Given the description of an element on the screen output the (x, y) to click on. 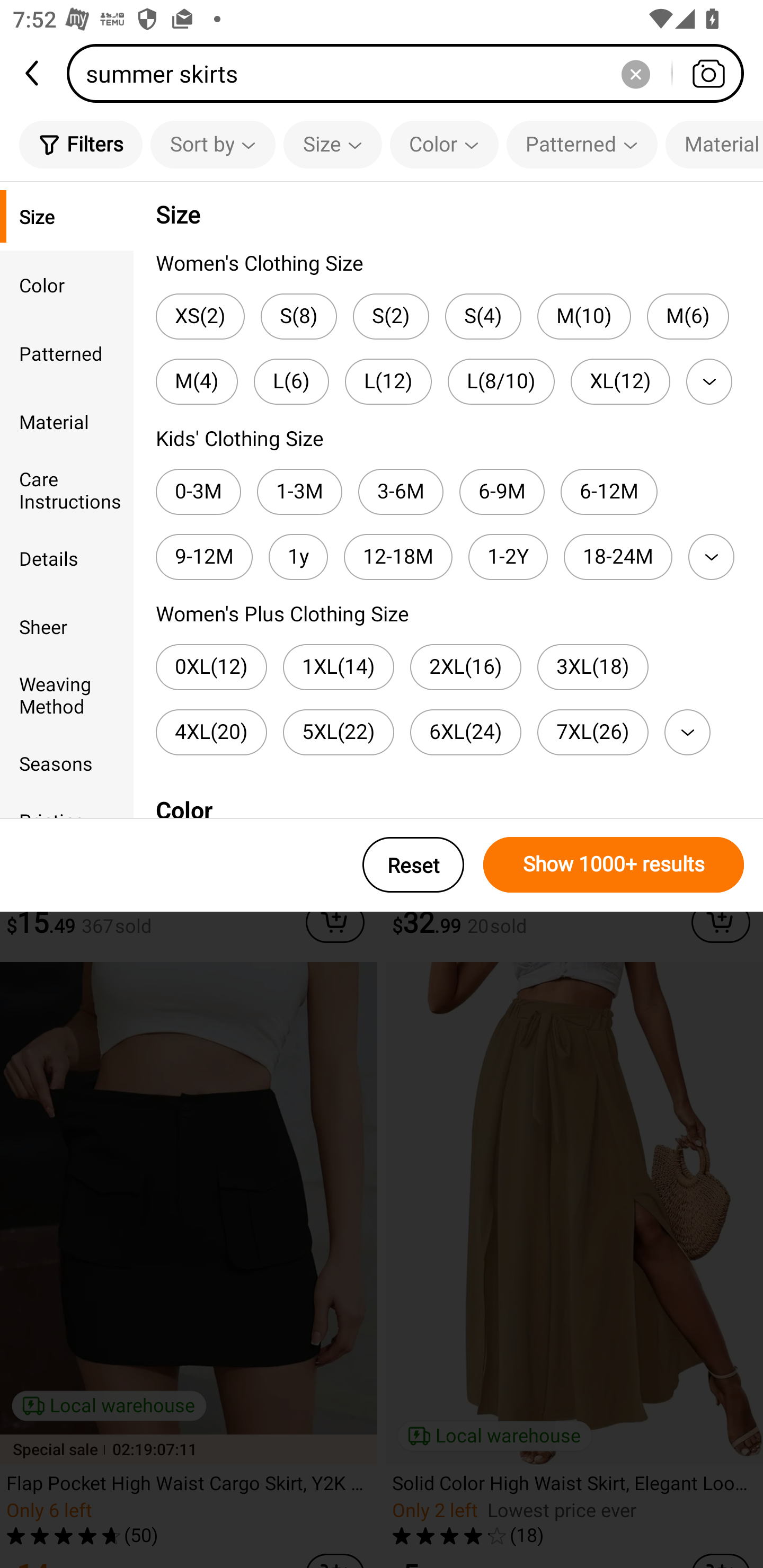
back (33, 72)
summer skirts (411, 73)
Delete search history (635, 73)
Search by photo (708, 73)
Filters (80, 143)
Sort by (212, 143)
Size (332, 143)
Color (443, 143)
Patterned (581, 143)
Material (714, 143)
Size (66, 215)
Color (66, 284)
XS(2) (199, 316)
S(8) (298, 316)
S(2) (390, 316)
S(4) (482, 316)
M(10) (584, 316)
M(6) (688, 316)
Patterned (66, 352)
M(4) (196, 381)
L(6) (291, 381)
L(12) (387, 381)
L(8/10) (500, 381)
XL(12) (619, 381)
More (708, 381)
Material (66, 421)
Care Instructions (66, 489)
0-3M (198, 491)
1-3M (299, 491)
3-6M (400, 491)
6-9M (501, 491)
6-12M (608, 491)
Details (66, 557)
9-12M (203, 557)
1y (298, 557)
12-18M (398, 557)
1-2Y (507, 557)
18-24M (617, 557)
More (711, 557)
Sheer (66, 626)
0XL(12) (211, 666)
1XL(14) (338, 666)
2XL(16) (465, 666)
3XL(18) (592, 666)
Weaving Method (66, 694)
4XL(20) (211, 731)
5XL(22) (338, 731)
6XL(24) (465, 731)
7XL(26) (592, 731)
More (687, 731)
Seasons (66, 762)
Reset (412, 864)
Show 1000+ results (612, 864)
